Given the description of an element on the screen output the (x, y) to click on. 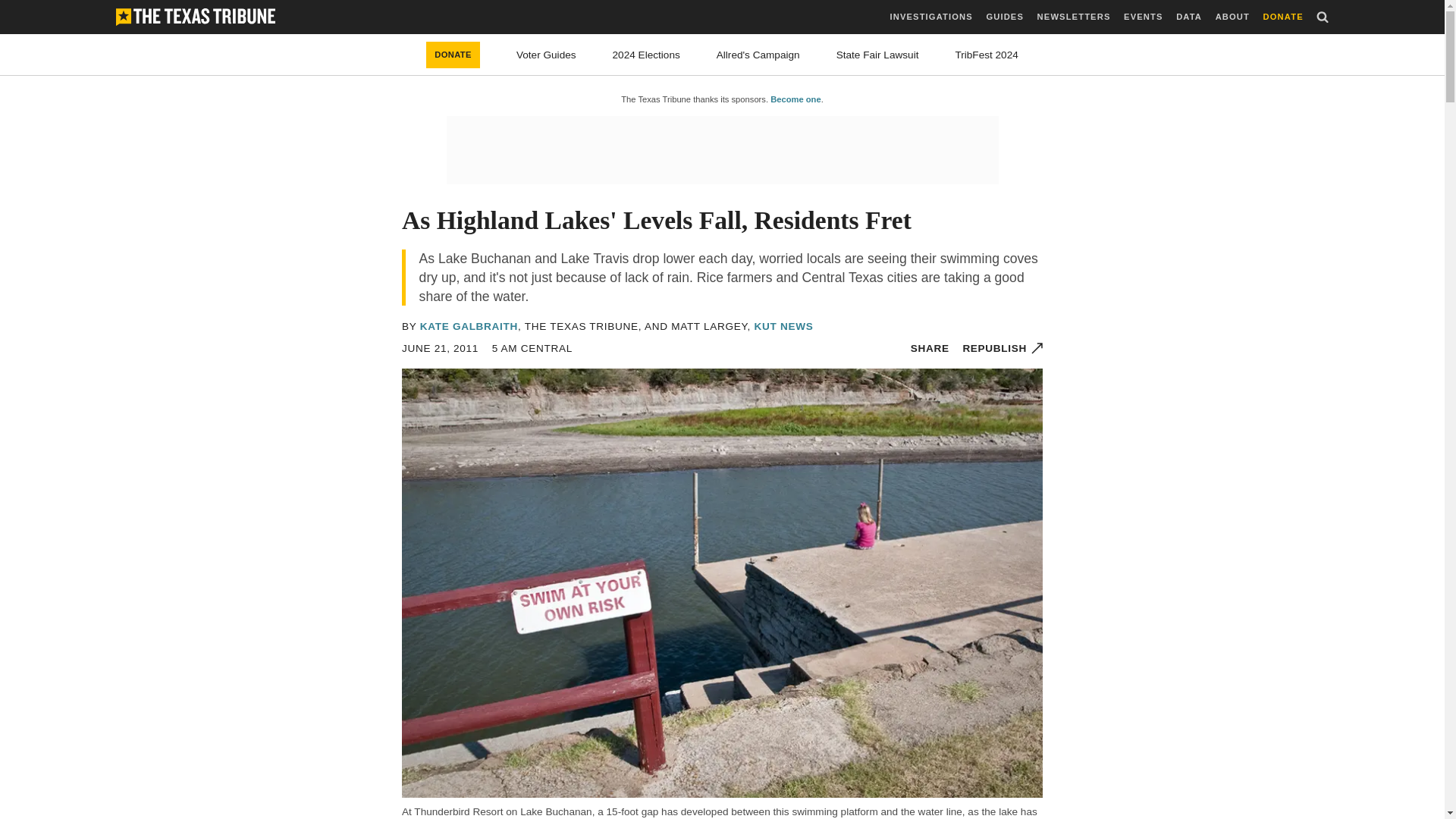
NEWSLETTERS (1073, 17)
DONATE (1283, 17)
EVENTS (1142, 17)
2024 Elections (645, 54)
3rd party ad content (721, 150)
INVESTIGATIONS (930, 17)
Voter Guides (546, 54)
GUIDES (1004, 17)
2011-06-21 05:00 CDT (440, 348)
Allred's Campaign (757, 54)
